Given the description of an element on the screen output the (x, y) to click on. 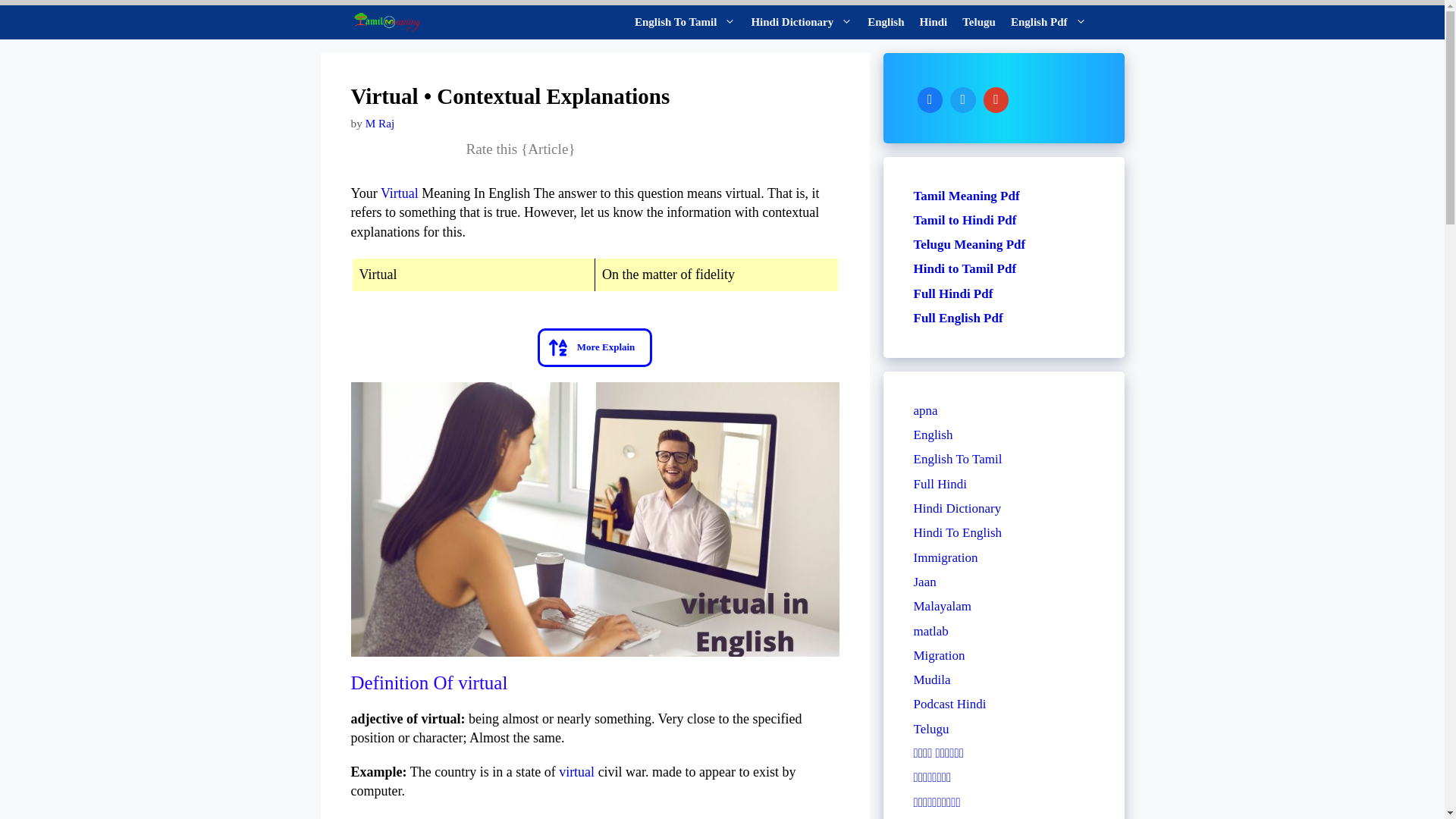
TAMIL Meaning Dictionary (385, 21)
English (885, 21)
Pinterest (962, 98)
Telugu (979, 21)
View all posts by M Raj (379, 123)
More Explain (594, 347)
Virtual (399, 192)
Google news (996, 98)
English To Tamil (684, 21)
virtual (576, 771)
